Given the description of an element on the screen output the (x, y) to click on. 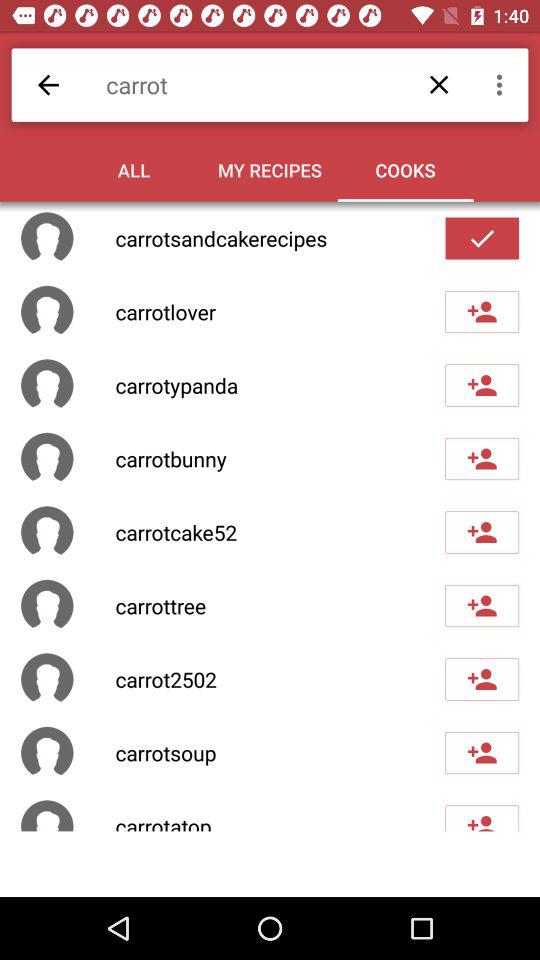
add user as friend (482, 459)
